Given the description of an element on the screen output the (x, y) to click on. 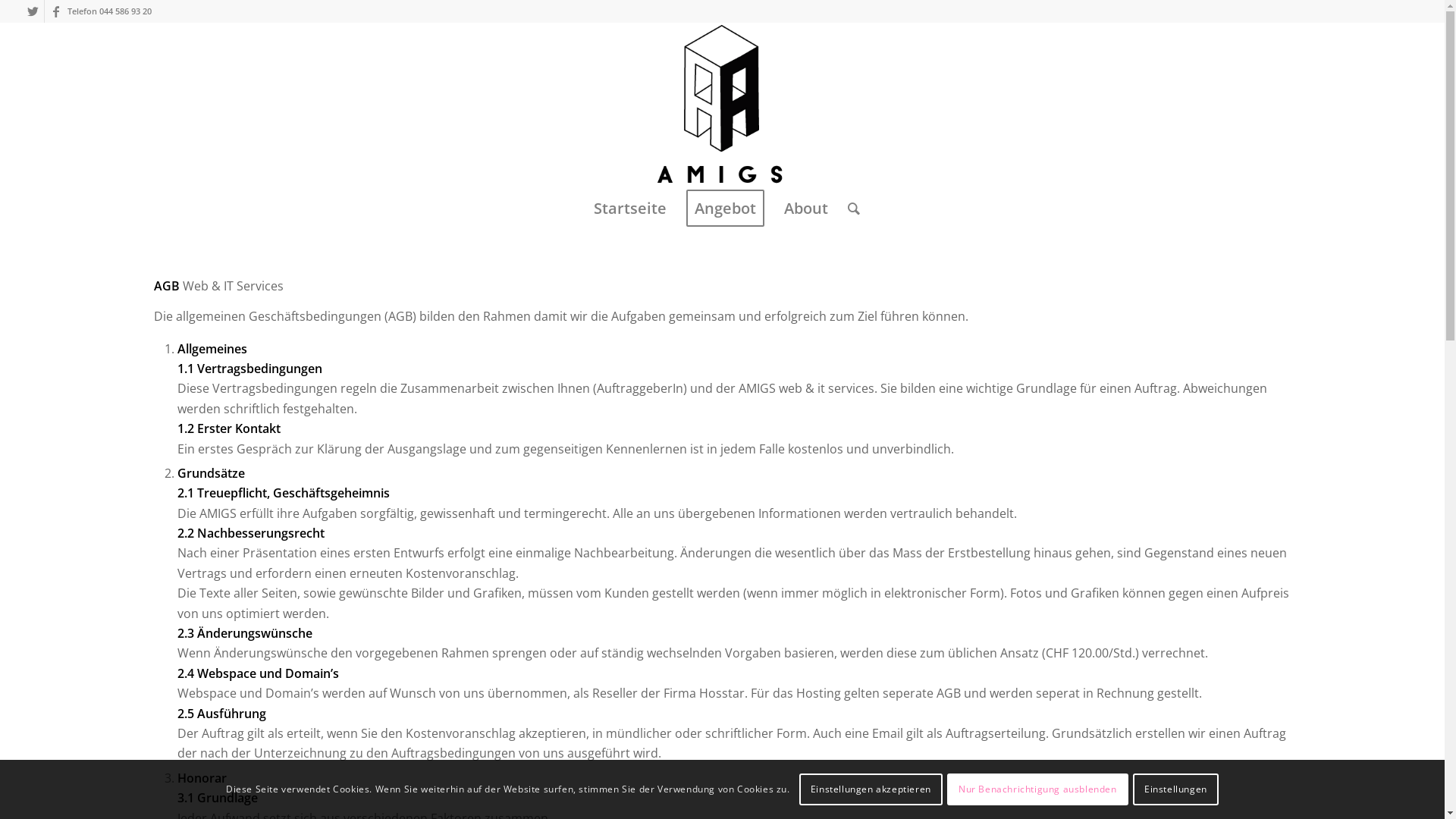
Nur Benachrichtigung ausblenden Element type: text (1037, 789)
Einstellungen akzeptieren Element type: text (870, 789)
Einstellungen Element type: text (1175, 789)
Twitter Element type: hover (32, 11)
Facebook Element type: hover (55, 11)
About Element type: text (805, 208)
Angebot Element type: text (725, 208)
amigs-logo-sec Element type: hover (721, 105)
Startseite Element type: text (629, 208)
